Given the description of an element on the screen output the (x, y) to click on. 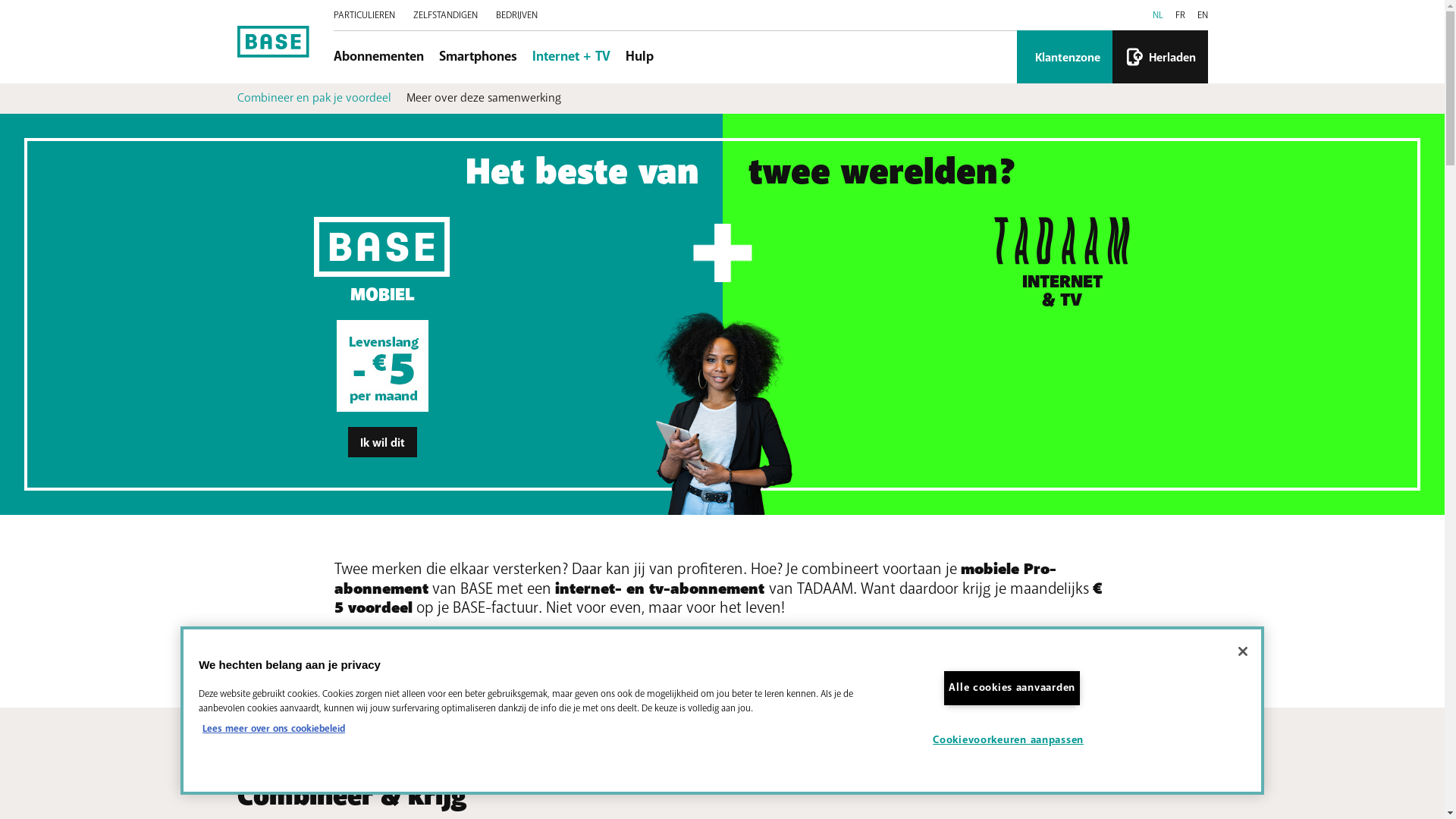
Combineer en pak je voordeel Element type: text (313, 98)
Meer over deze samenwerking Element type: text (483, 98)
Abonnementen Element type: text (378, 57)
Alle cookies aanvaarden Element type: text (1011, 688)
Klantenzone Element type: text (1063, 56)
PARTICULIEREN Element type: text (364, 15)
Internet + TV Element type: text (571, 57)
EN Element type: text (1201, 15)
ZELFSTANDIGEN Element type: text (444, 15)
Cookievoorkeuren aanpassen Element type: text (1011, 740)
BEDRIJVEN Element type: text (516, 15)
Herladen Element type: text (1159, 56)
Ik wil dit Element type: text (382, 441)
Meer weten over de samenwerking tussen BASE + TADAAM? Element type: text (504, 652)
Lees meer over ons cookiebeleid Element type: text (532, 729)
NL Element type: text (1157, 15)
Smartphones Element type: text (477, 57)
FR Element type: text (1180, 15)
Hulp Element type: text (638, 57)
